Given the description of an element on the screen output the (x, y) to click on. 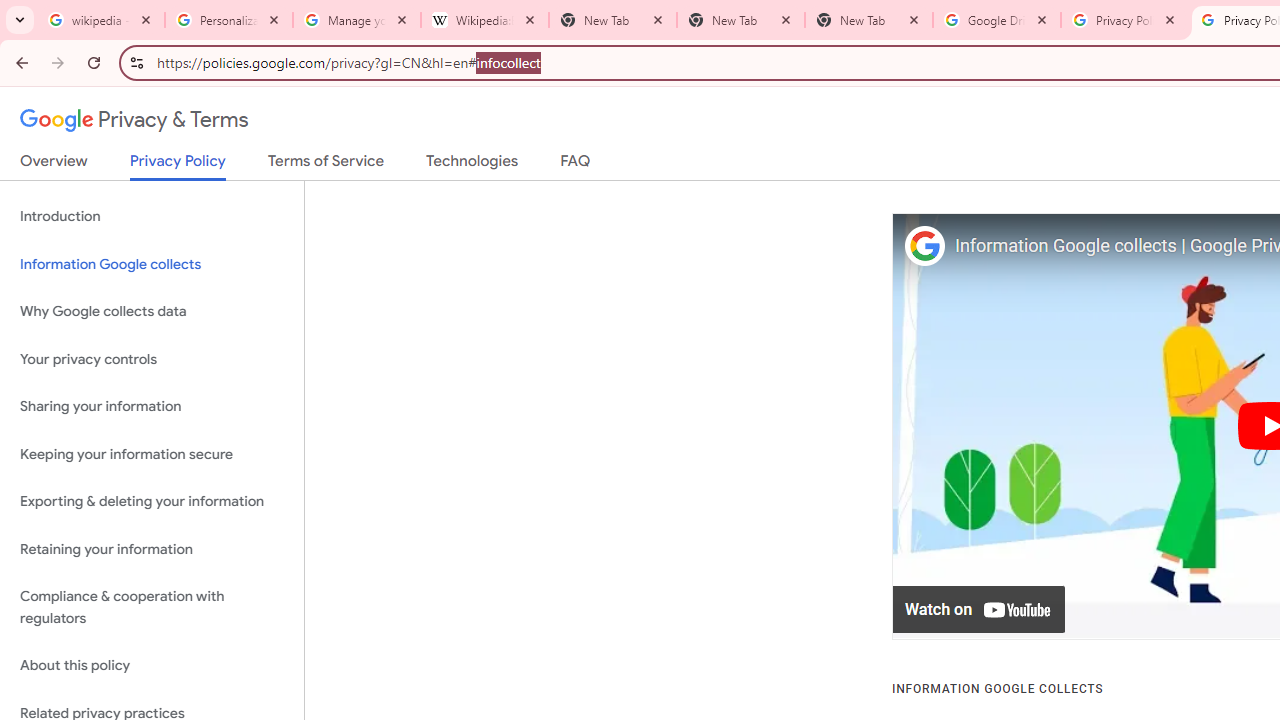
Information Google collects (152, 263)
Why Google collects data (152, 312)
Your privacy controls (152, 358)
Compliance & cooperation with regulators (152, 607)
Photo image of Google (924, 246)
